Given the description of an element on the screen output the (x, y) to click on. 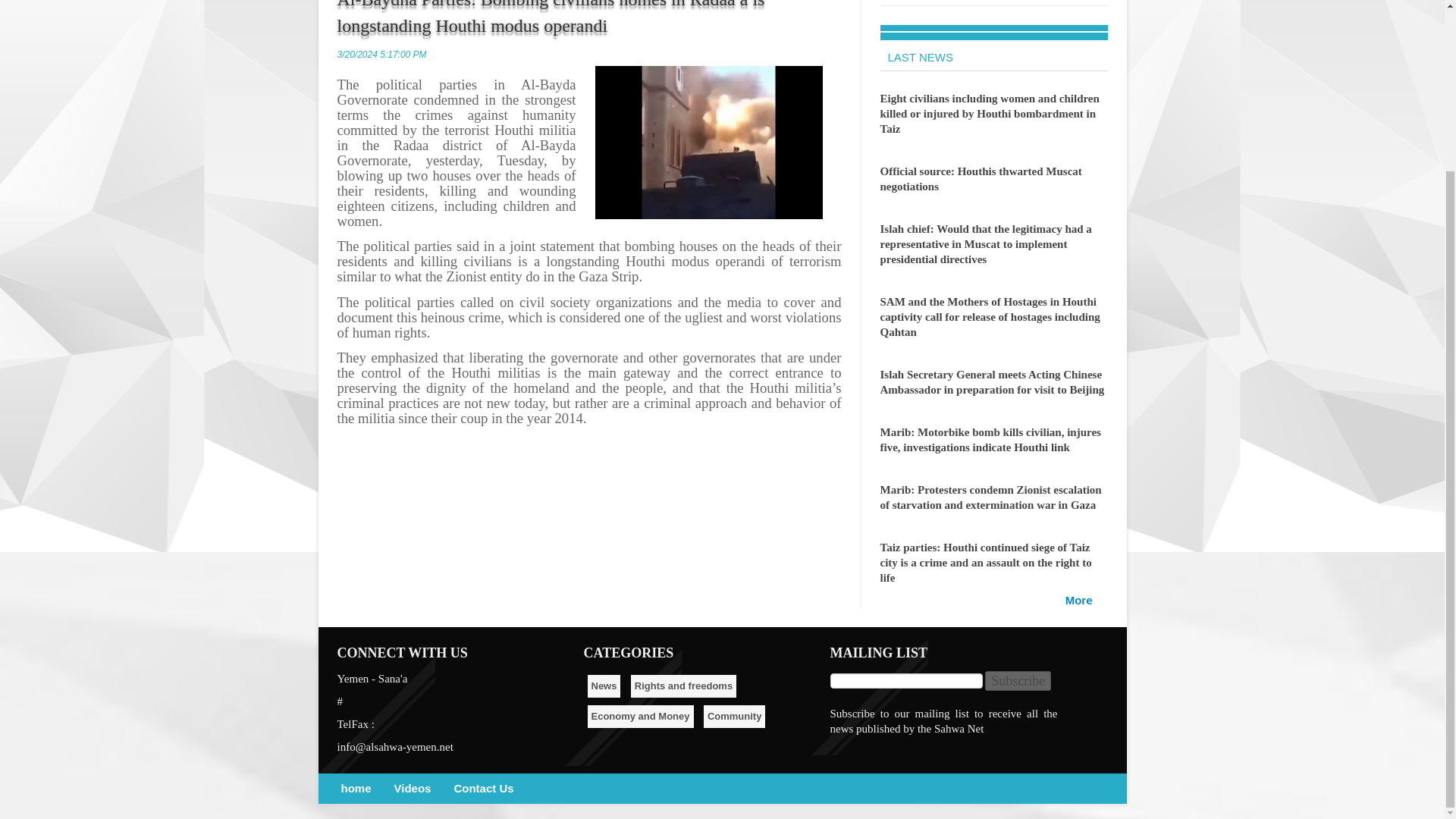
Subscribe (1018, 680)
Community (734, 716)
Enter your email here (905, 680)
home (355, 788)
Economy and Money (639, 716)
Official source: Houthis thwarted Muscat negotiations (980, 178)
Contact Us (482, 788)
Subscribe (1018, 680)
News (603, 685)
